Given the description of an element on the screen output the (x, y) to click on. 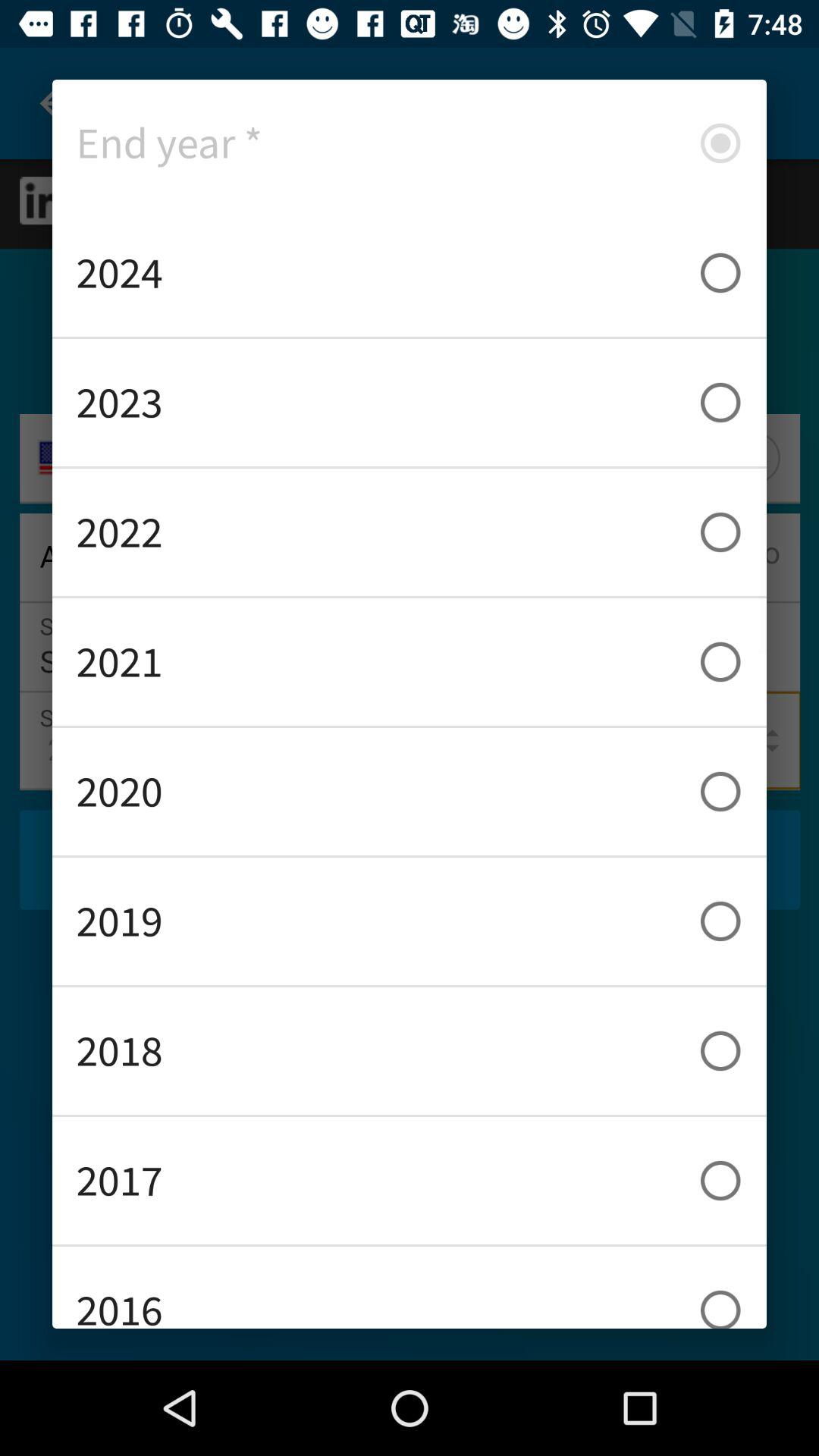
flip until 2023 (409, 402)
